Given the description of an element on the screen output the (x, y) to click on. 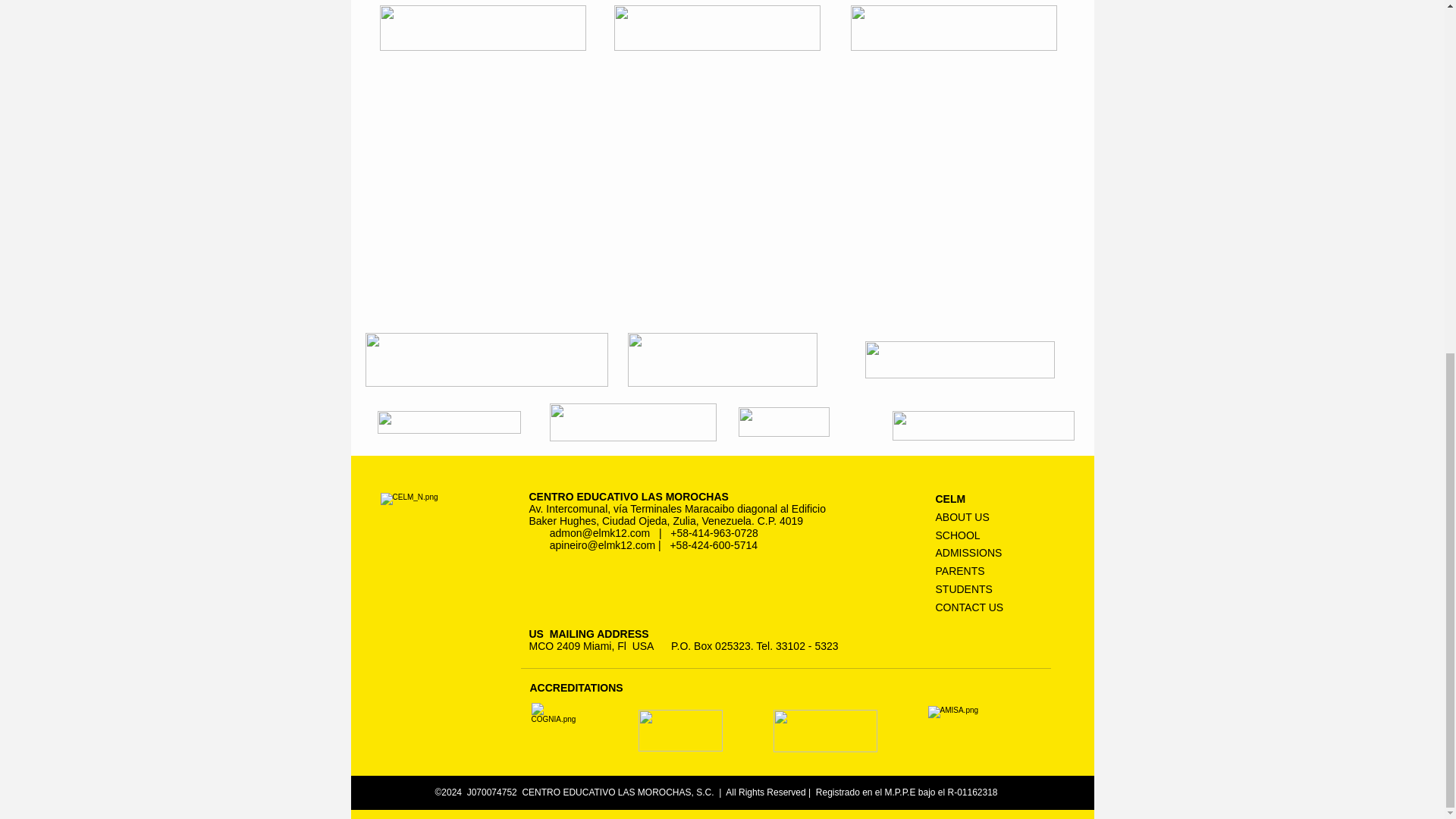
SCHOOL (957, 535)
STUDENTS (964, 589)
External YouTube (723, 192)
PARENTS (960, 571)
CONTACT US (970, 607)
ADMISSIONS (969, 552)
ABOUT US (963, 517)
CELM (951, 499)
